Given the description of an element on the screen output the (x, y) to click on. 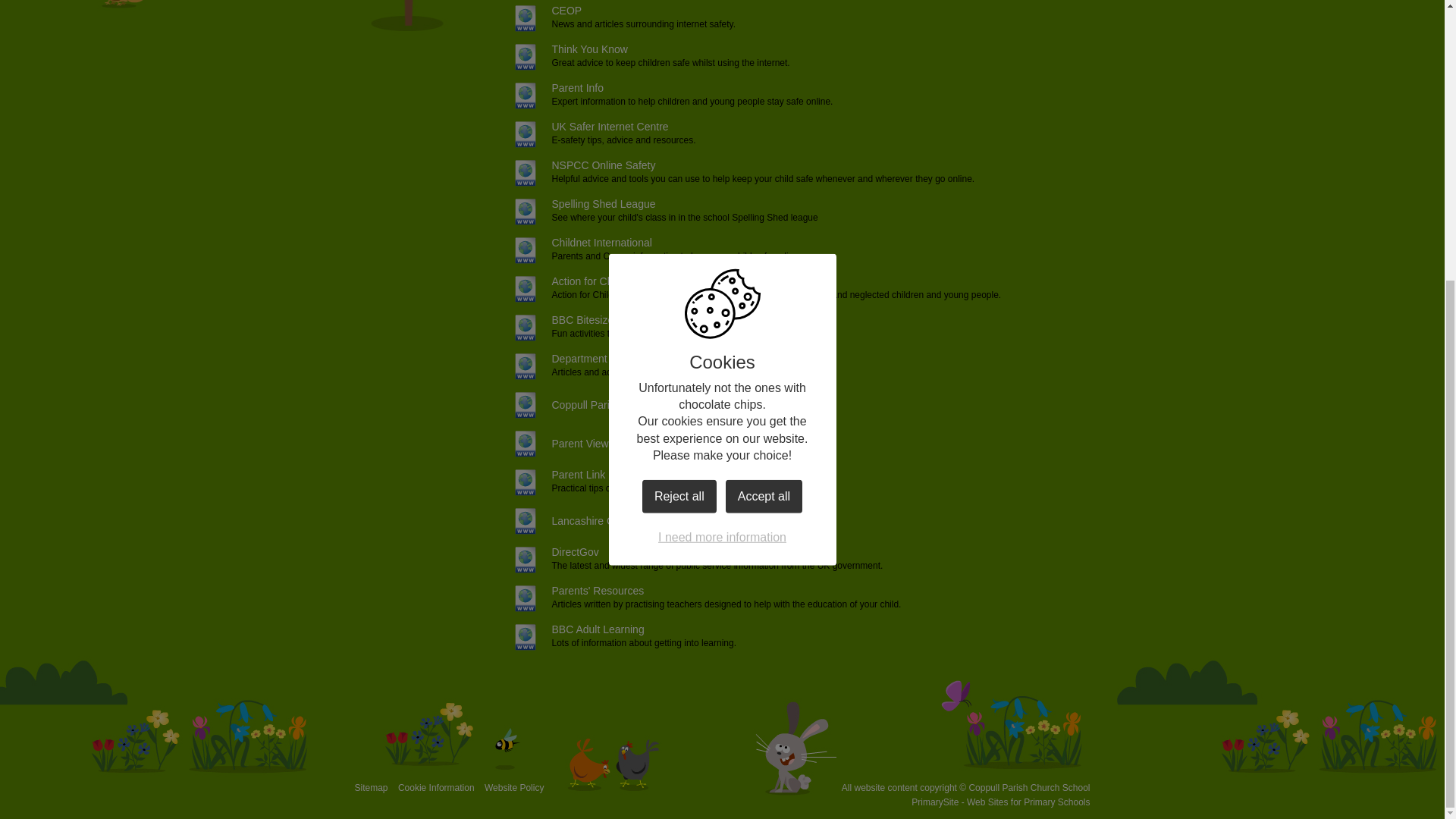
Spelling Shed League (578, 203)
DirectGov (550, 551)
Action for Children (570, 281)
CEOP (541, 10)
Think You Know (564, 49)
Parents' Resources (572, 590)
BBC Adult Learning (572, 629)
BBC Bitesize (557, 319)
Department for Education (587, 358)
Lancashire County Council Education (615, 520)
Parent Info (553, 88)
UK Safer Internet Centre (585, 126)
Coppull Parish Scouts (579, 404)
Parent View (555, 443)
Parent Link (553, 474)
